Given the description of an element on the screen output the (x, y) to click on. 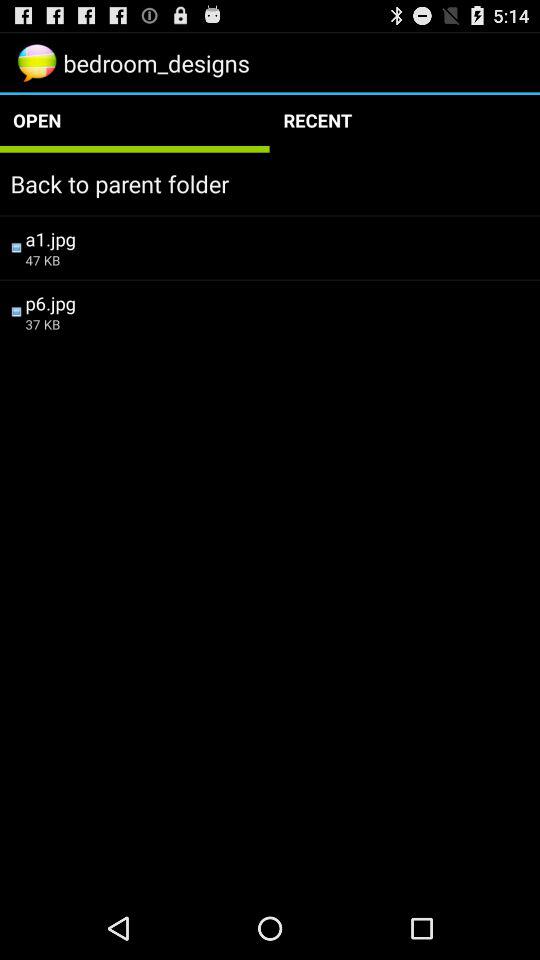
flip to back to parent app (270, 183)
